Given the description of an element on the screen output the (x, y) to click on. 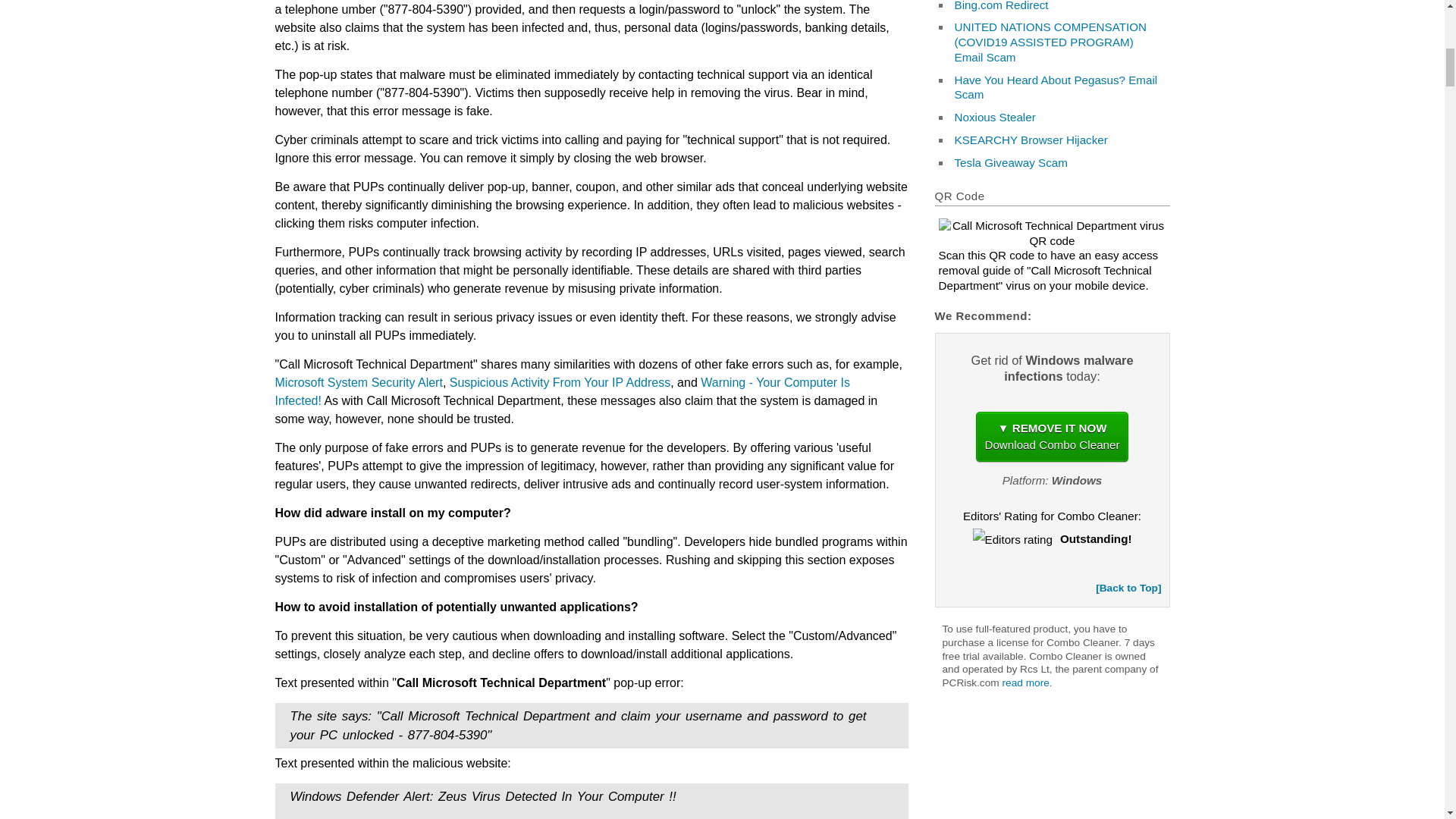
Read more about us (1026, 682)
Suspicious Activity From Your IP Address (559, 382)
Warning - Your Computer Is Infected! (562, 391)
Call Microsoft Technical Department virus (1052, 233)
Microsoft System Security Alert (358, 382)
